Given the description of an element on the screen output the (x, y) to click on. 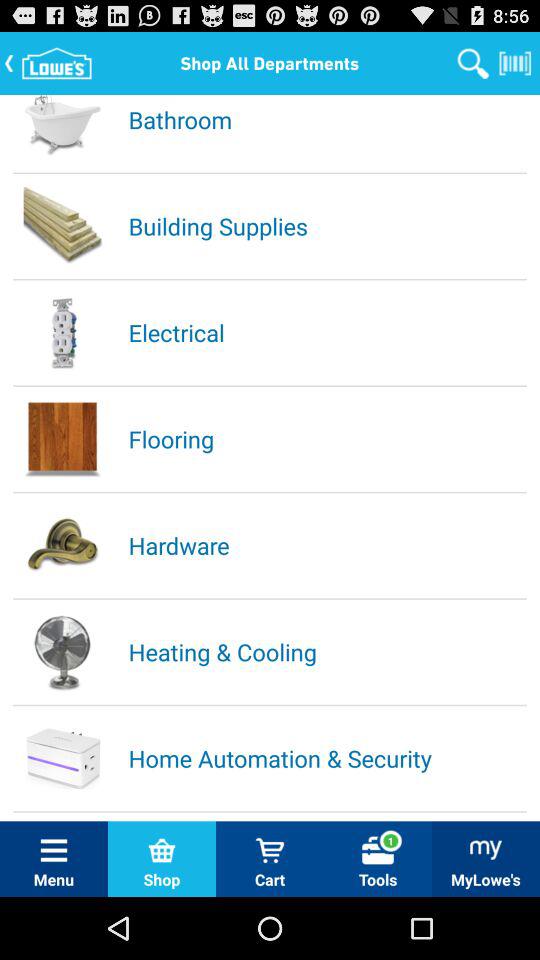
turn on item below electrical (326, 438)
